Given the description of an element on the screen output the (x, y) to click on. 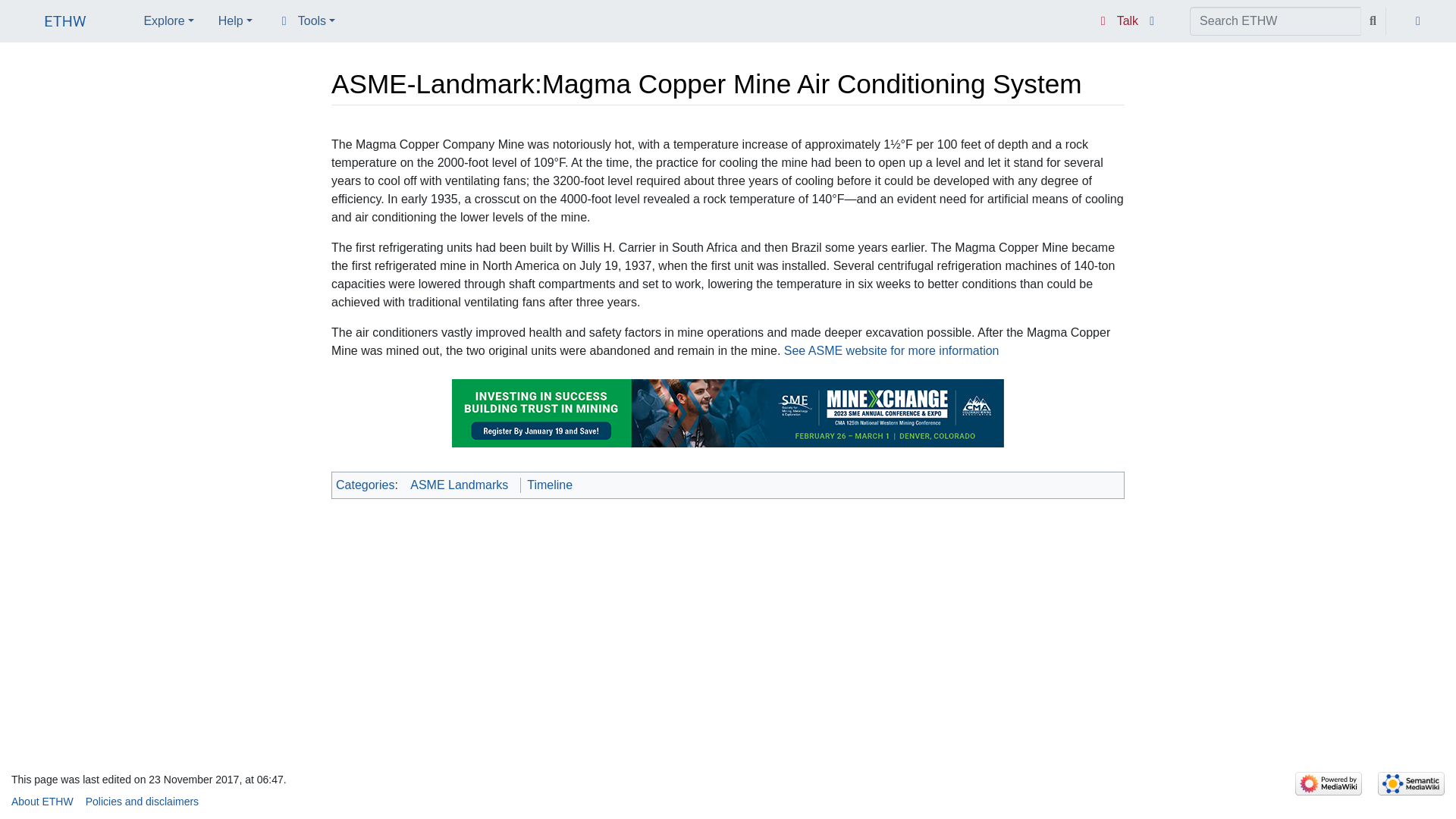
Category:ASME Landmarks (459, 484)
Go to a page with this exact name if it exists (1372, 21)
Help (235, 20)
Tools (305, 20)
Go (1372, 21)
Talk (1117, 21)
Explore (168, 20)
Visit the main page (65, 22)
Special:Categories (365, 484)
See ASME website for more information (891, 350)
